Given the description of an element on the screen output the (x, y) to click on. 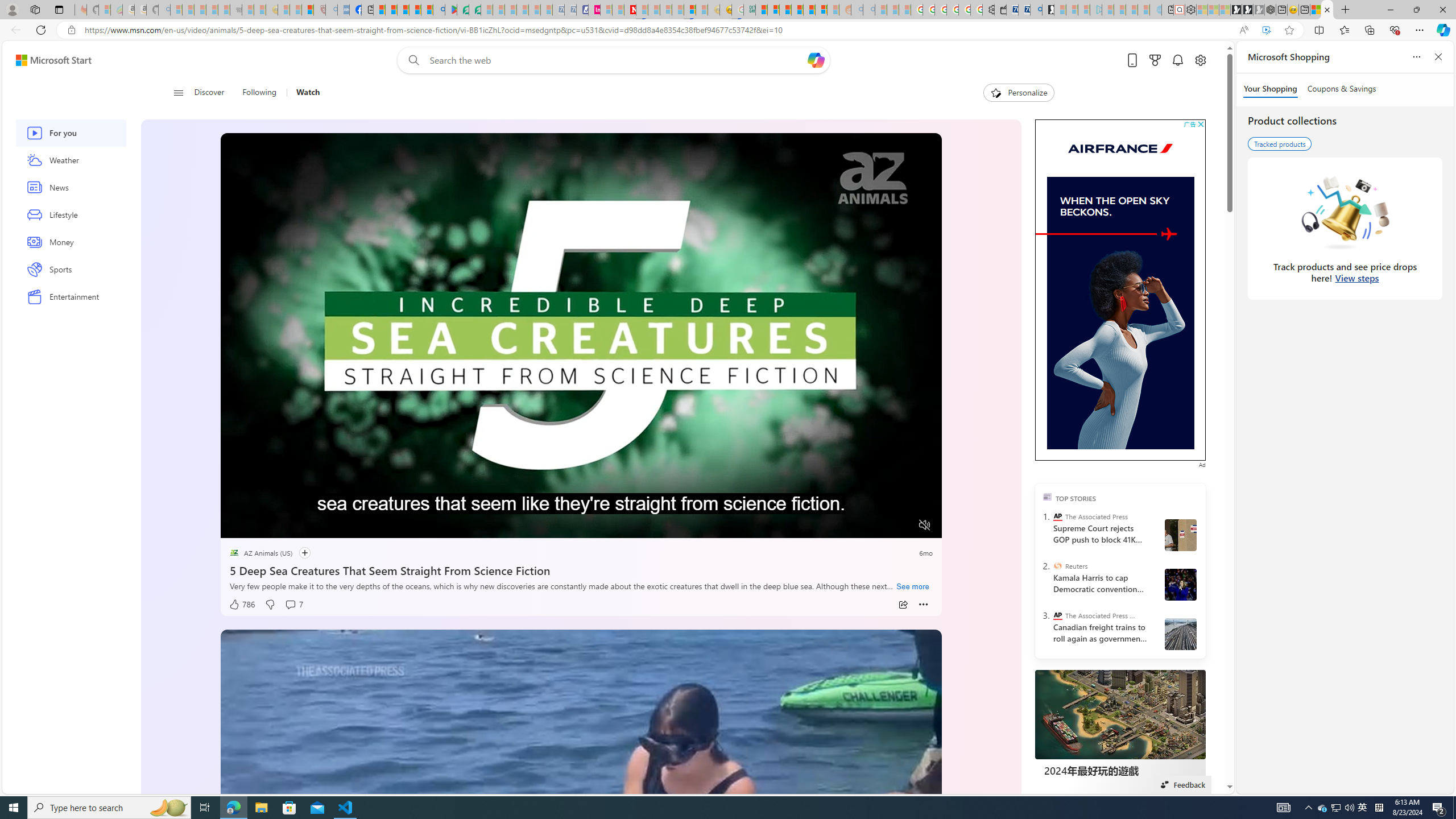
Latest Politics News & Archive | Newsweek.com (629, 9)
View comments 7 Comment (293, 604)
Open settings (1199, 60)
Seek Forward (283, 525)
Utah sues federal government - Search - Sleeping (868, 9)
Wallet (1000, 9)
